Given the description of an element on the screen output the (x, y) to click on. 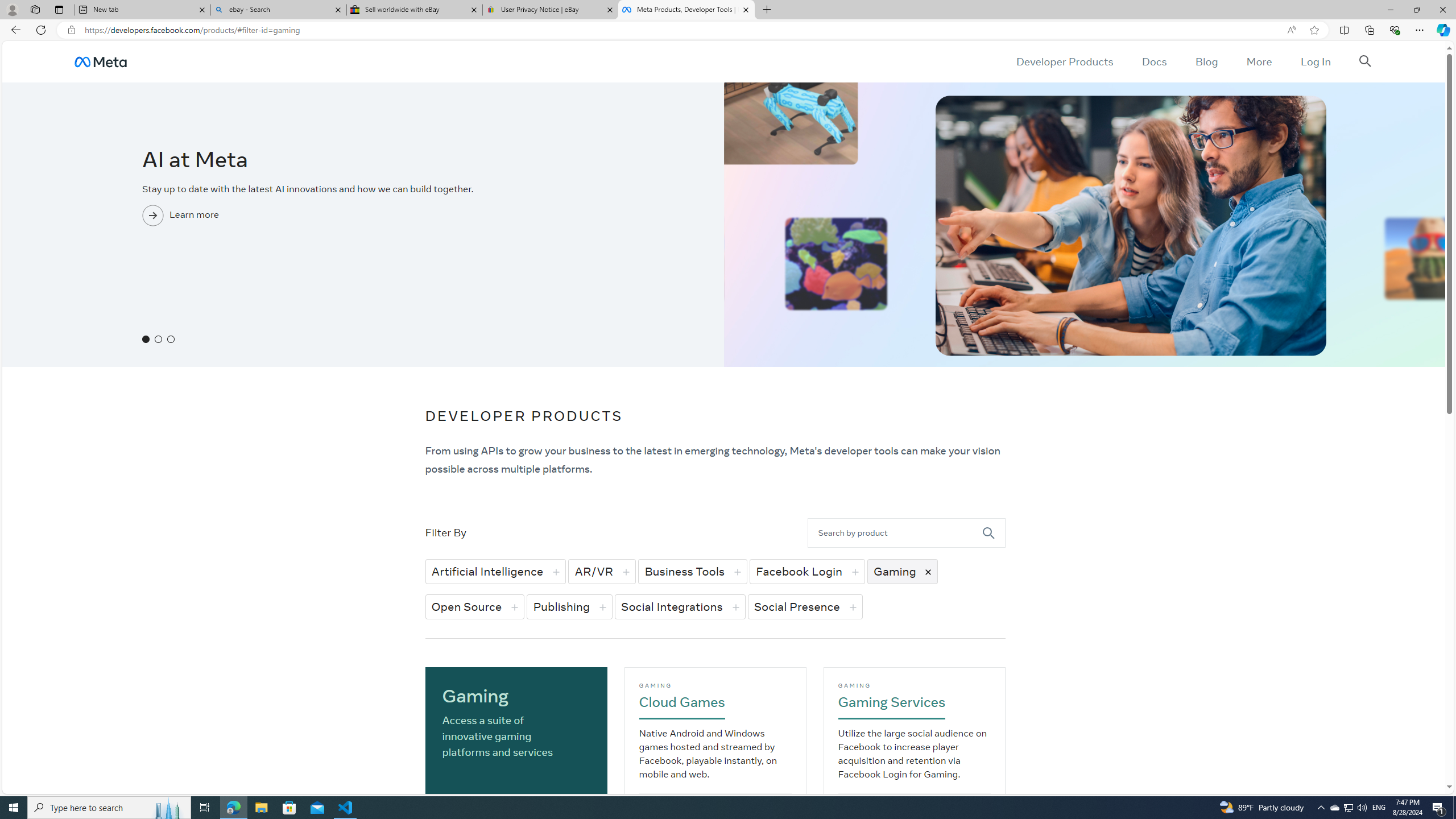
Publishing (569, 606)
Blog (1205, 61)
Facebook Login (806, 571)
Learn more (362, 236)
